Given the description of an element on the screen output the (x, y) to click on. 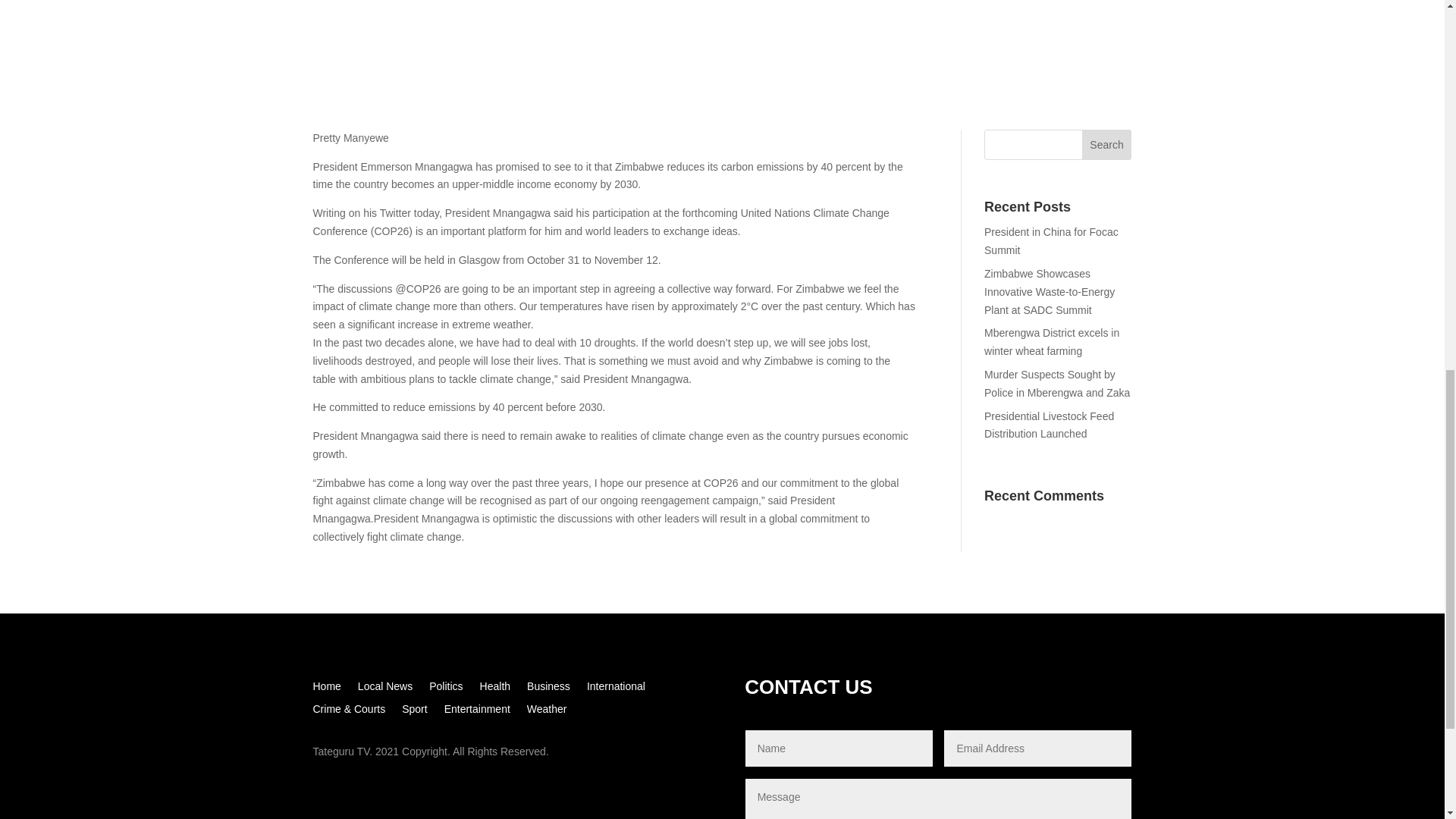
Murder Suspects Sought by Police in Mberengwa and Zaka (1056, 383)
Search (1106, 144)
Mberengwa District excels in winter wheat farming (1051, 341)
Politics (446, 688)
IMG-20211027-WA0060 (722, 48)
Local News (385, 688)
President in China for Focac Summit (1051, 241)
Search (1106, 144)
Presidential Livestock Feed Distribution Launched (1048, 425)
